Given the description of an element on the screen output the (x, y) to click on. 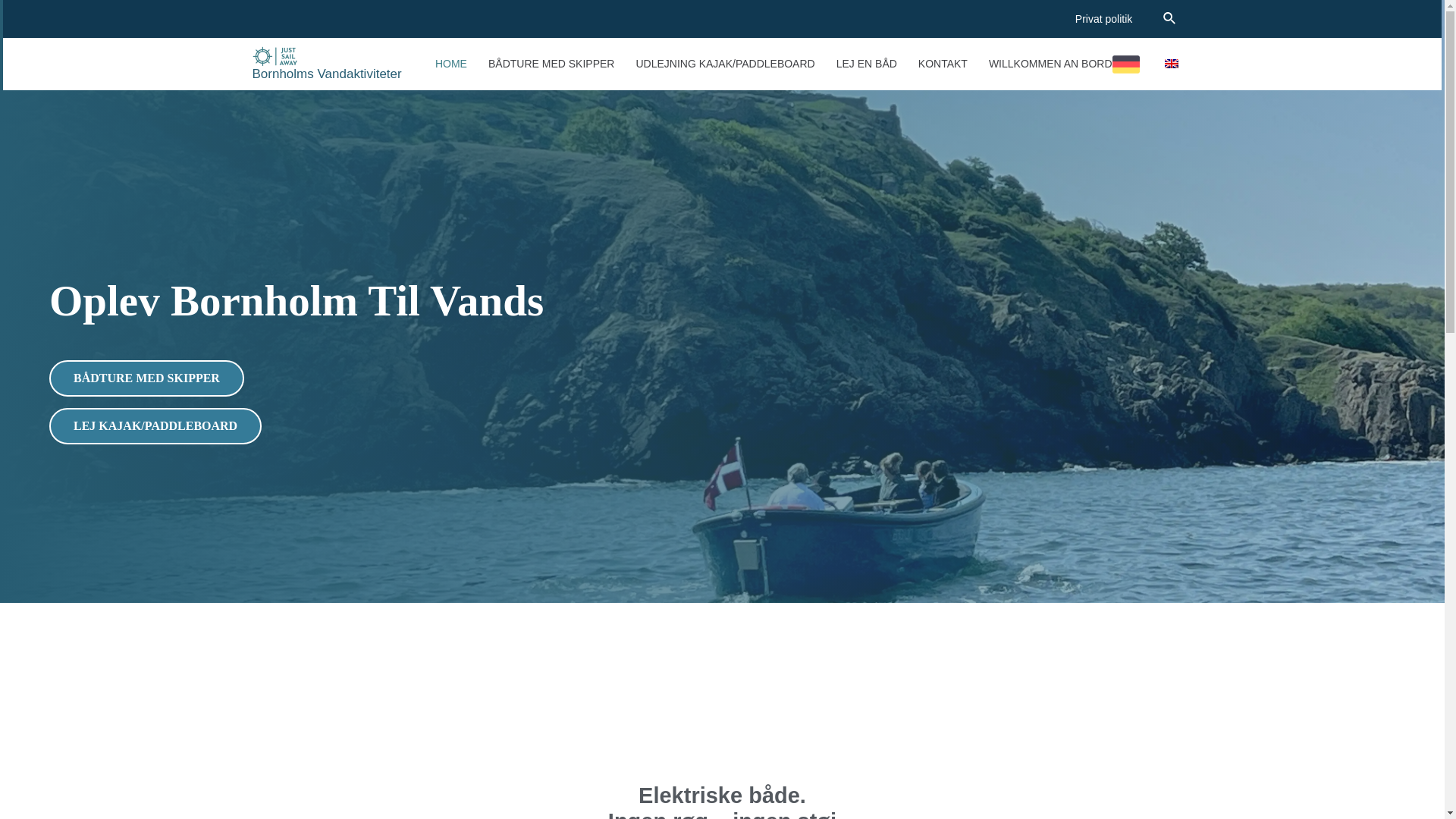
HOME (451, 63)
WILLKOMMEN AN BORD (1064, 63)
Bornholms Vandaktiviteter (326, 73)
English (1170, 62)
Privat politik (1103, 19)
KONTAKT (942, 63)
